Given the description of an element on the screen output the (x, y) to click on. 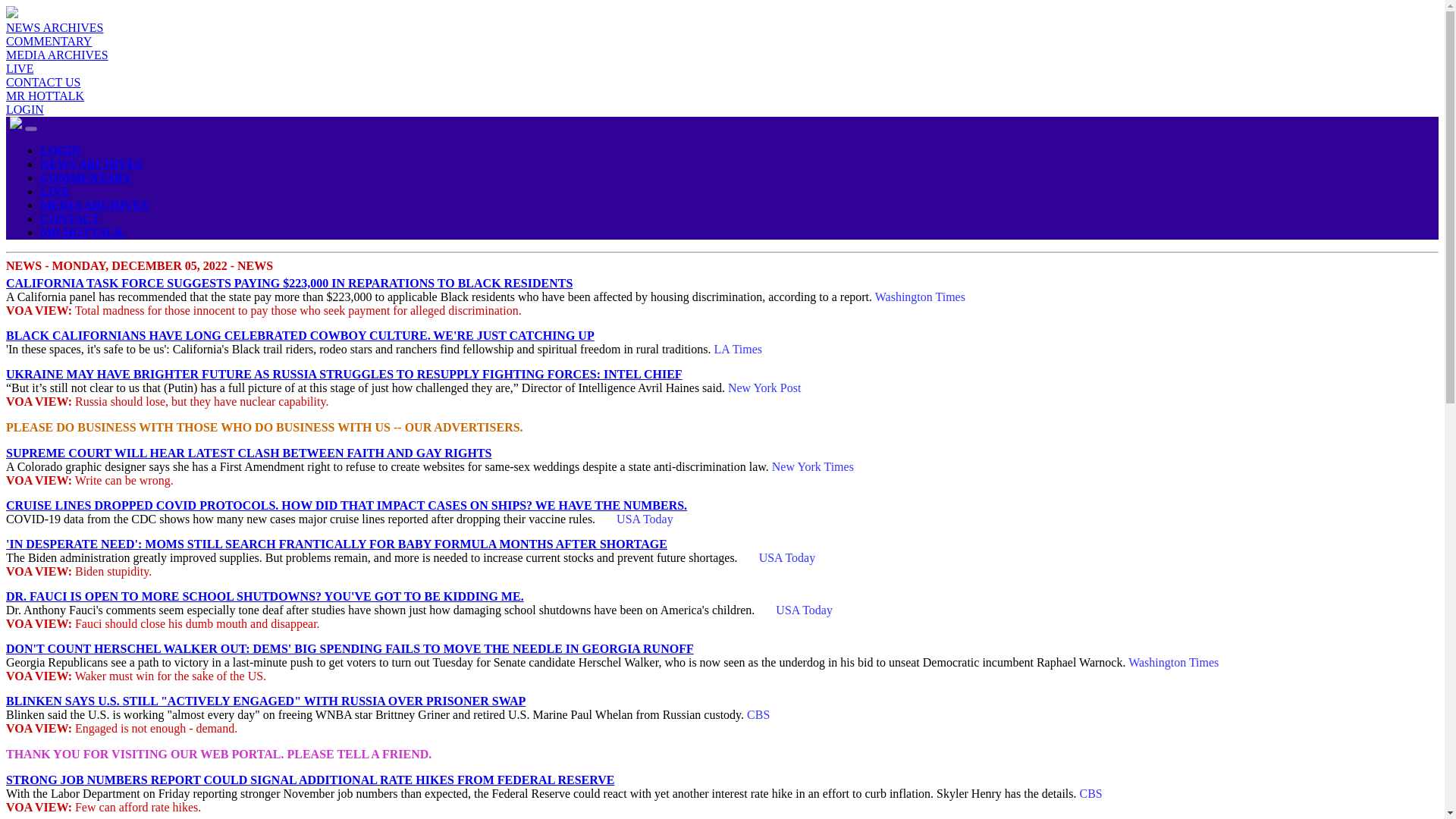
COMMENTARY (85, 177)
MEDIA ARCHIVES (94, 205)
CONTACT (70, 218)
MR HOTTALK (81, 232)
LOGIN (60, 150)
